Given the description of an element on the screen output the (x, y) to click on. 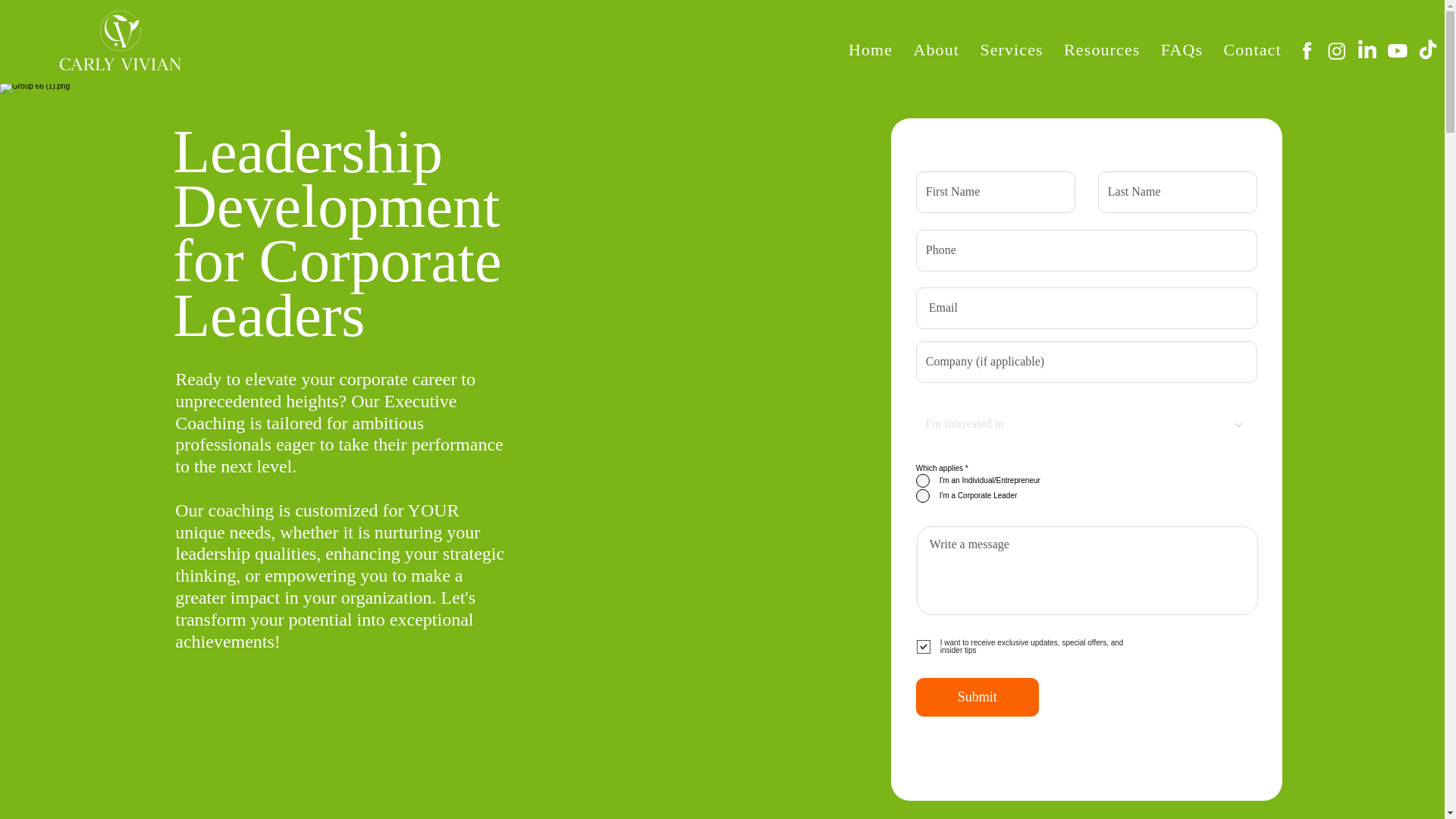
FAQs (1188, 49)
Submit (977, 697)
Resources (1108, 49)
Home (877, 49)
Contact (1259, 49)
About (943, 49)
